Given the description of an element on the screen output the (x, y) to click on. 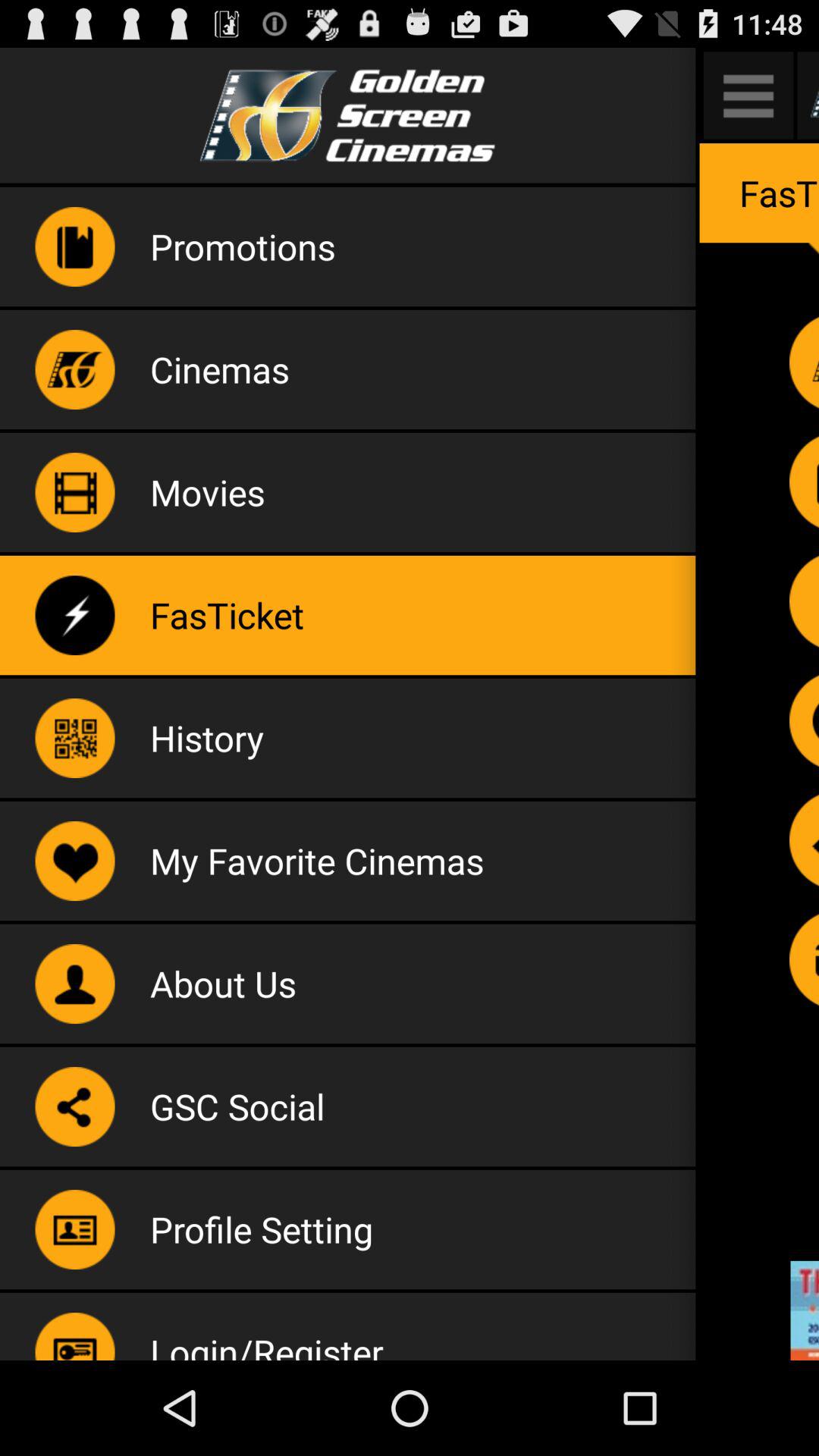
open app sub menu (748, 95)
